Given the description of an element on the screen output the (x, y) to click on. 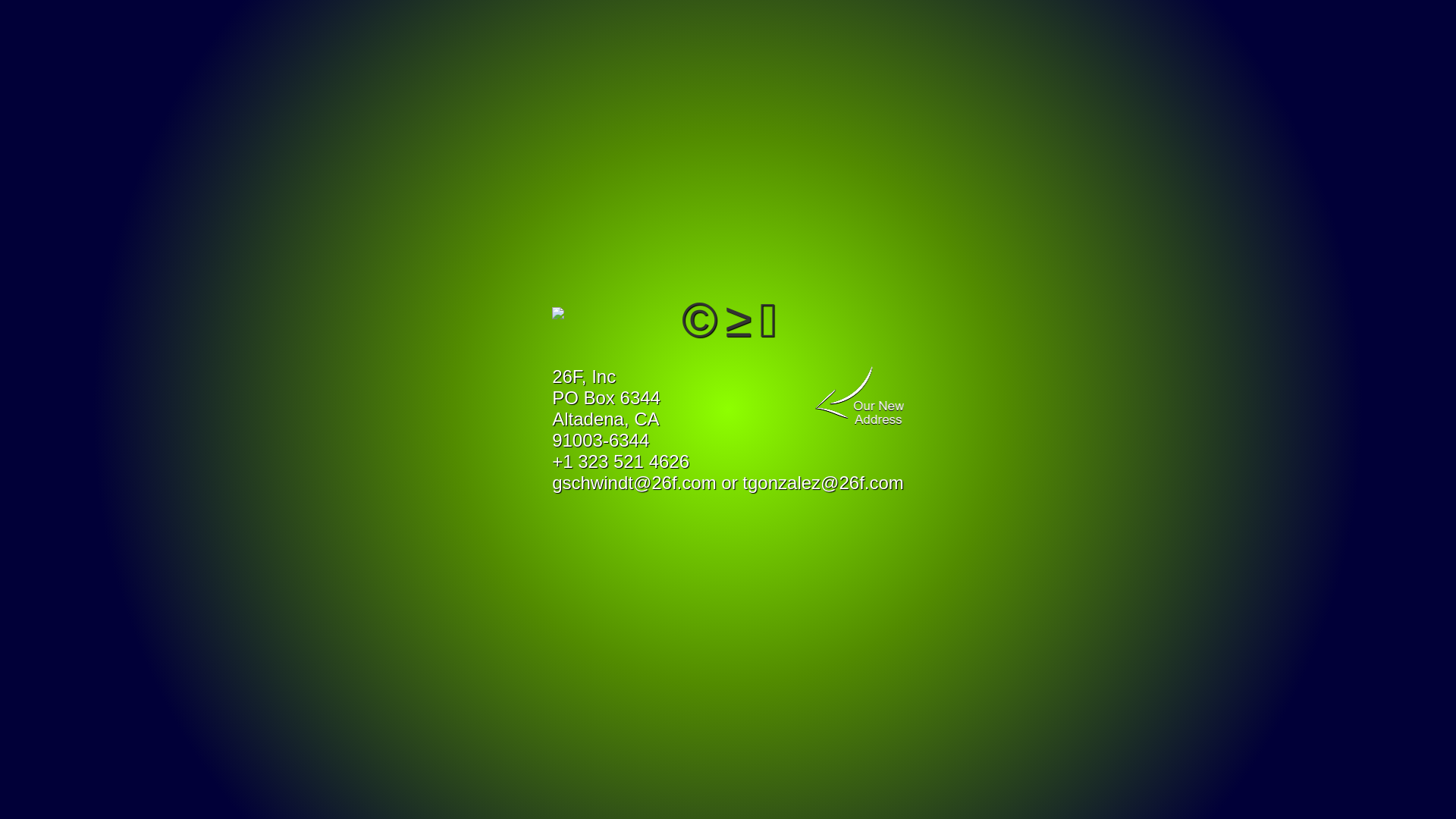
gschwindt@26f.com Element type: text (633, 482)
tgonzalez@26f.com Element type: text (822, 482)
